Given the description of an element on the screen output the (x, y) to click on. 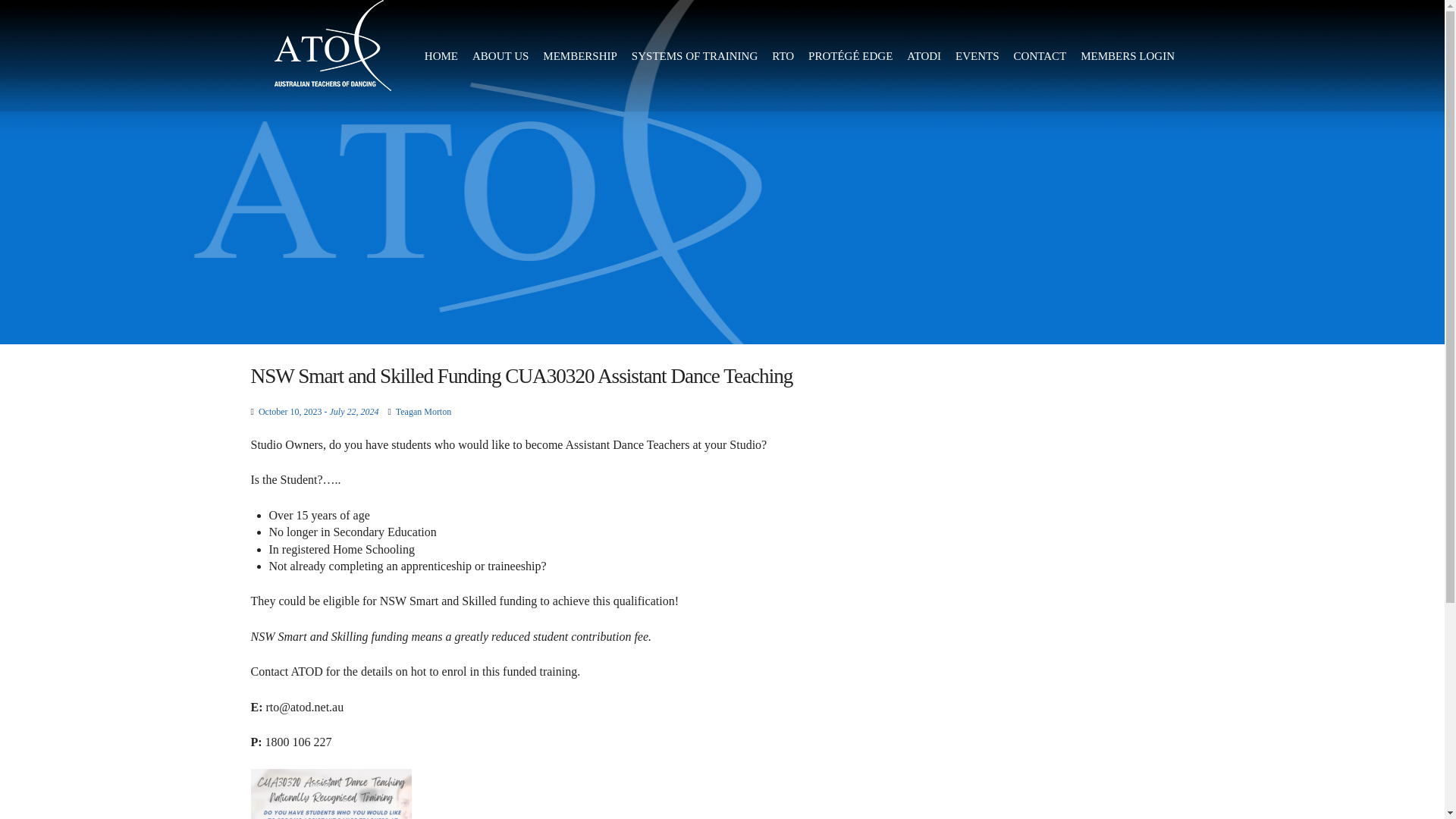
SYSTEMS OF TRAINING (694, 55)
October 10, 2023 - July 22, 2024 (318, 411)
MEMBERS LOGIN (1127, 55)
